Given the description of an element on the screen output the (x, y) to click on. 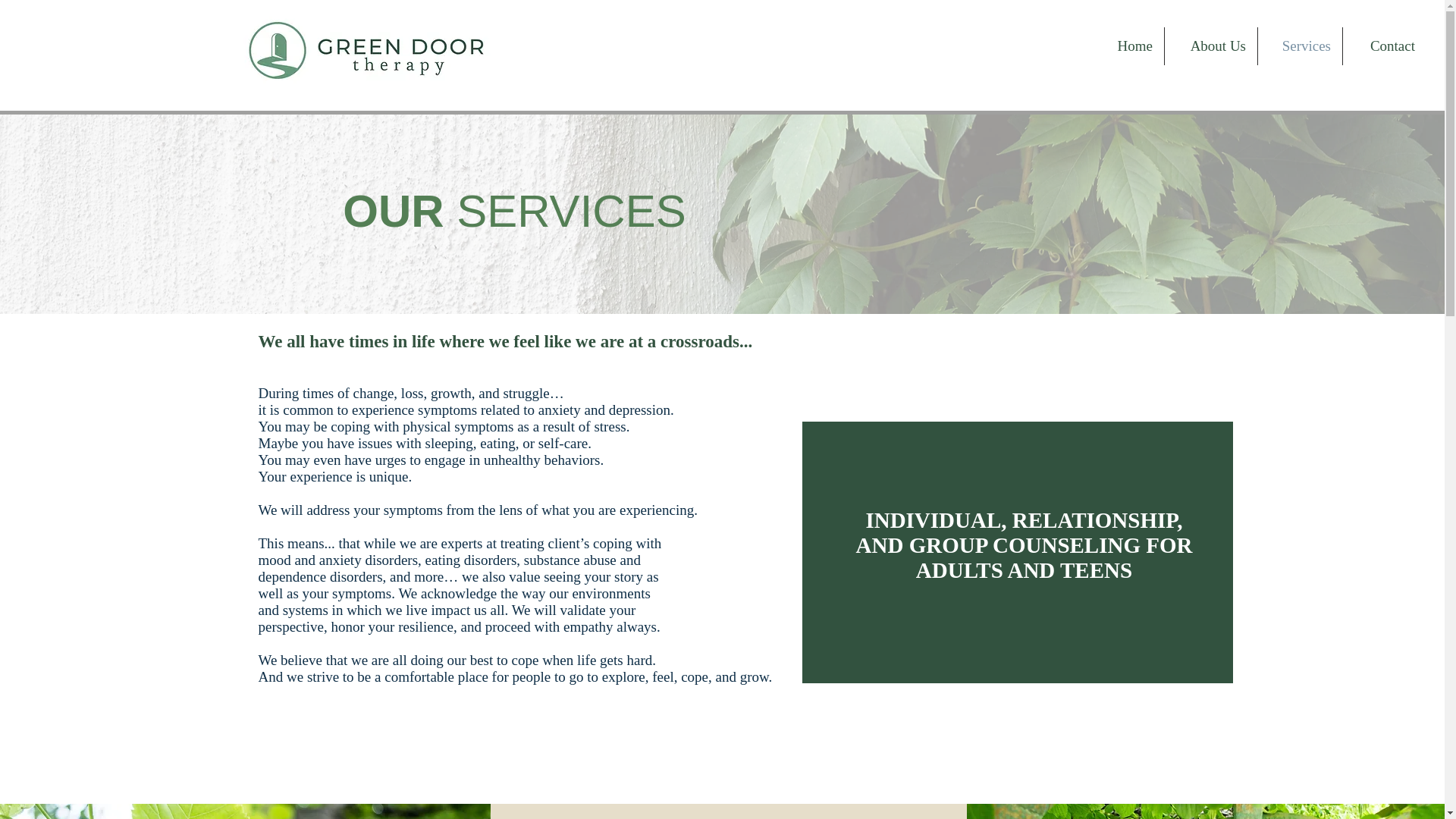
Services (1299, 46)
Home (1129, 46)
About Us (1210, 46)
Contact (1384, 46)
